Given the description of an element on the screen output the (x, y) to click on. 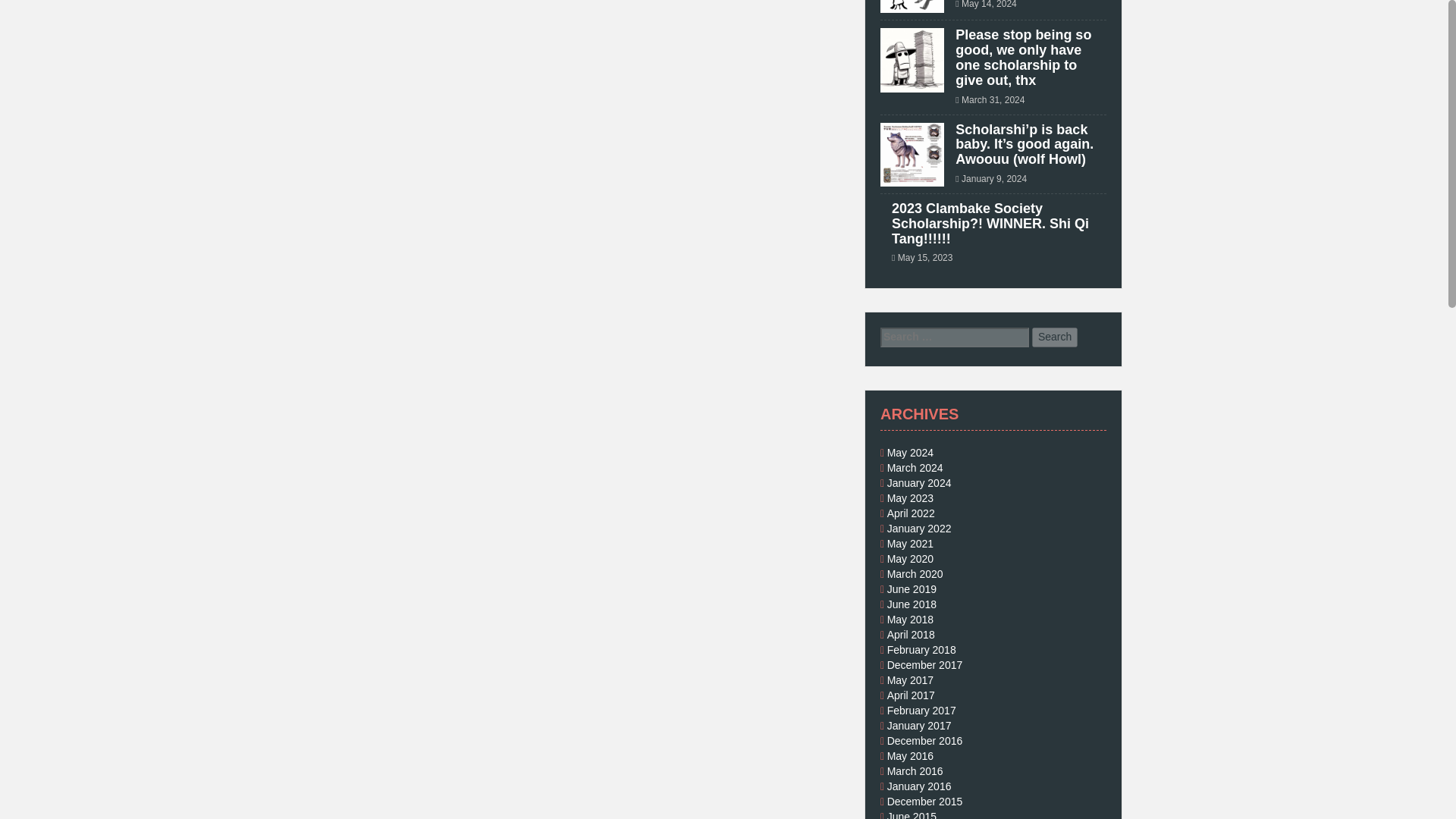
Search (1054, 337)
